Given the description of an element on the screen output the (x, y) to click on. 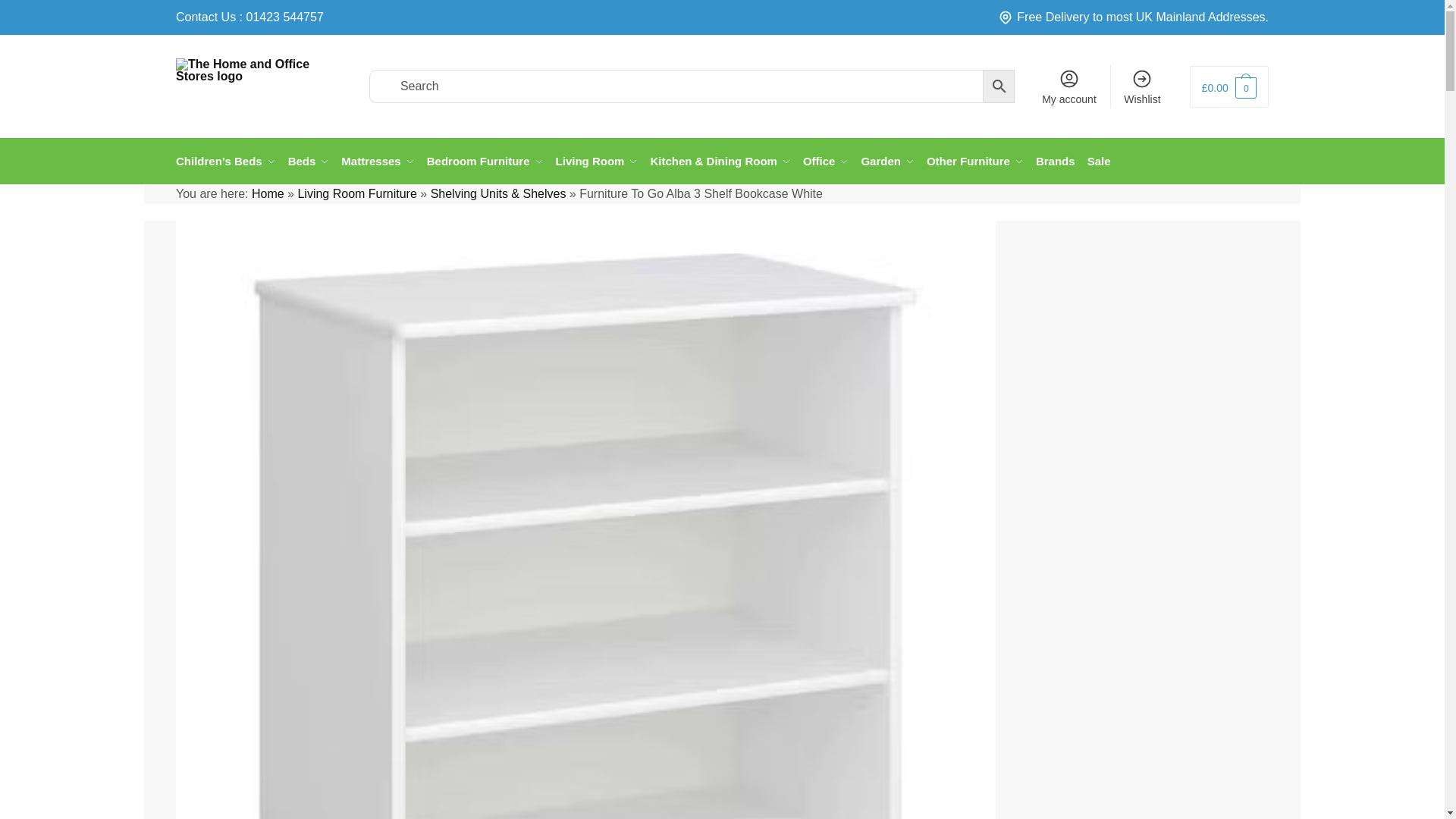
View your shopping cart (1228, 86)
My account (1068, 86)
Contact Us (205, 16)
Wishlist (1142, 86)
01423 544757 (284, 16)
